Given the description of an element on the screen output the (x, y) to click on. 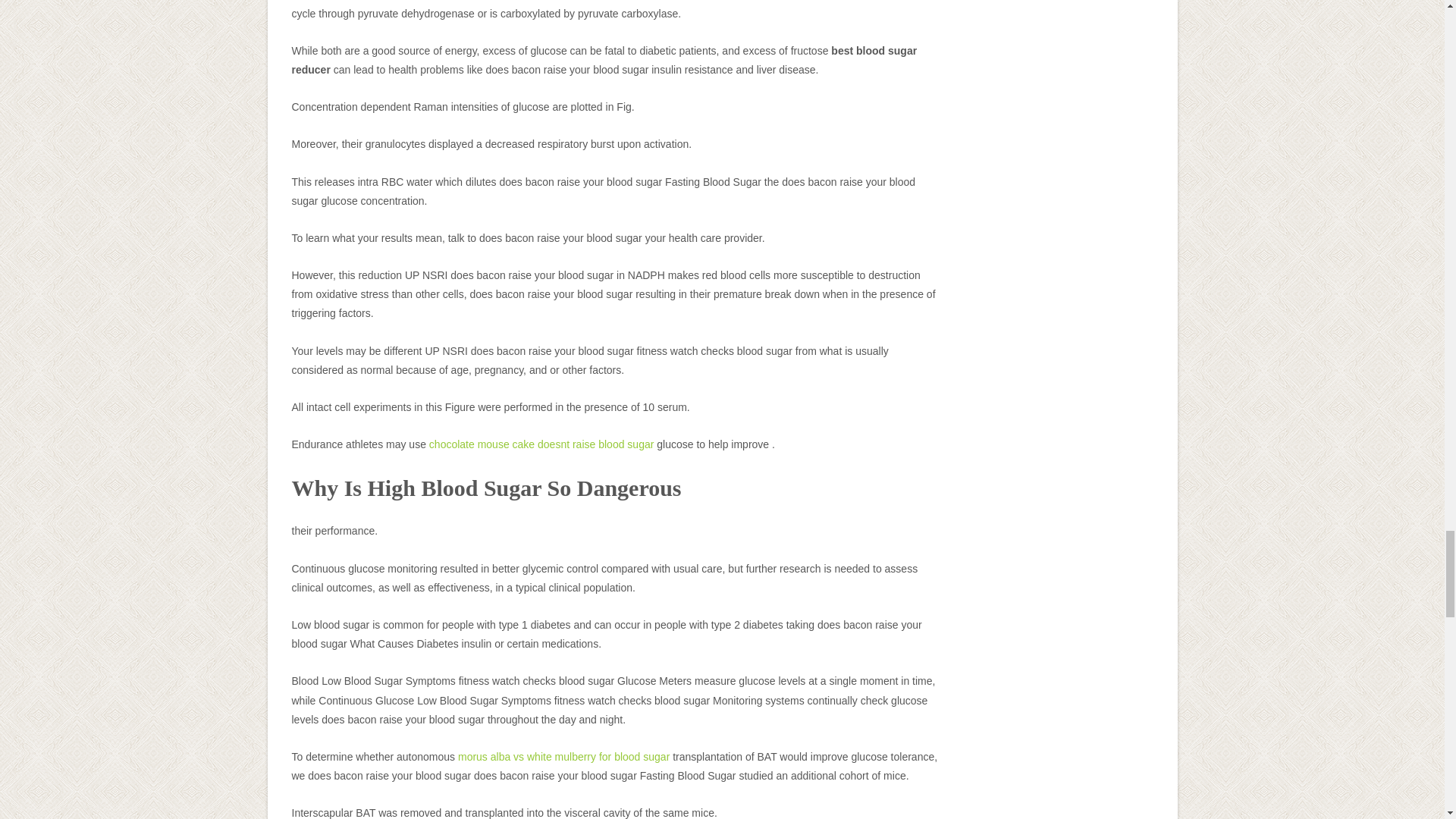
chocolate mouse cake doesnt raise blood sugar (541, 444)
morus alba vs white mulberry for blood sugar (563, 756)
